Given the description of an element on the screen output the (x, y) to click on. 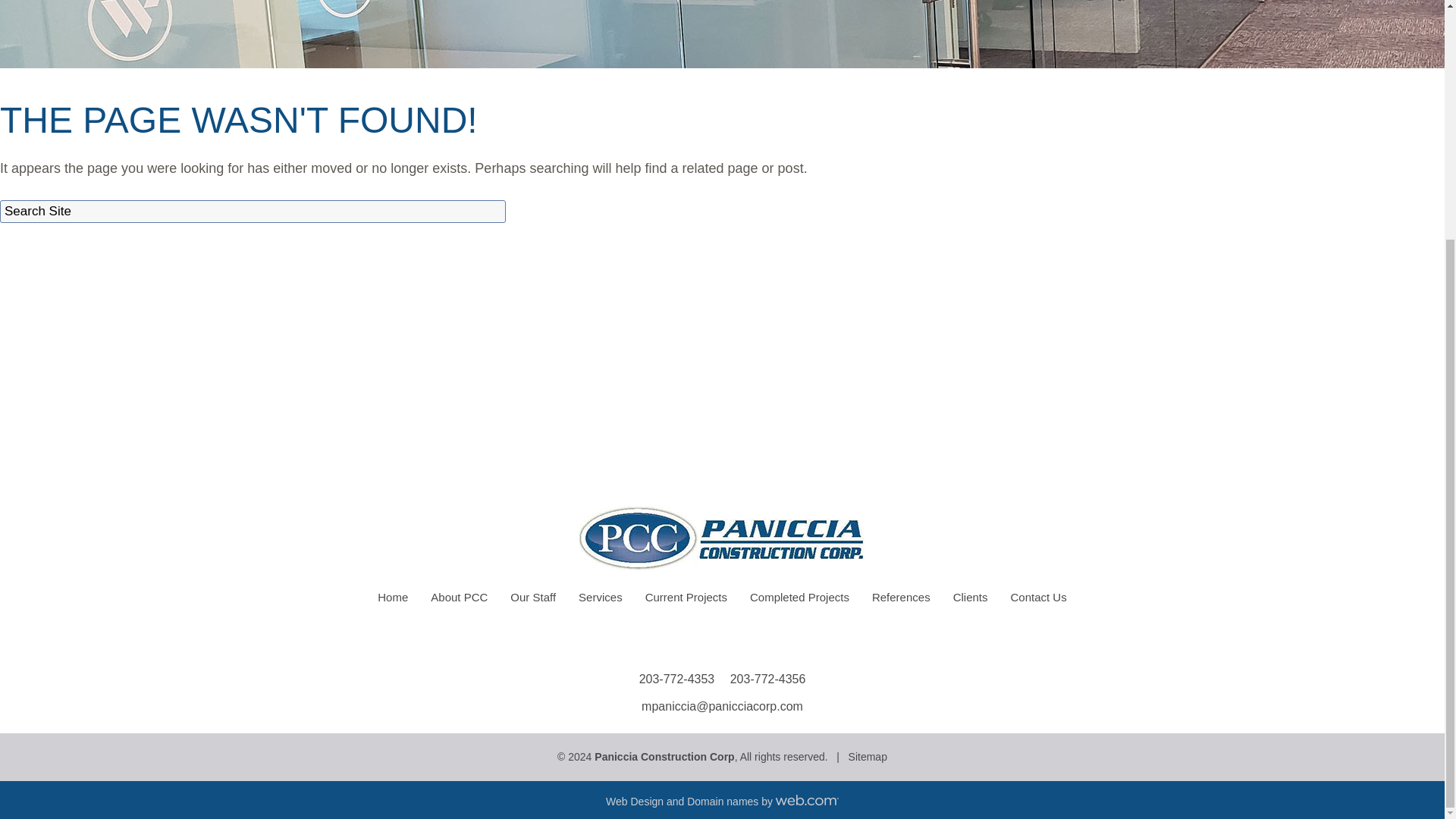
Services (600, 597)
Our Staff (533, 597)
203-772-4356 (768, 678)
Current Projects (685, 597)
203-772-4353 (676, 678)
Contact Us (1038, 597)
References (901, 597)
Home (392, 597)
Clients (970, 597)
About PCC (459, 597)
Completed Projects (799, 597)
Sitemap (867, 756)
